Given the description of an element on the screen output the (x, y) to click on. 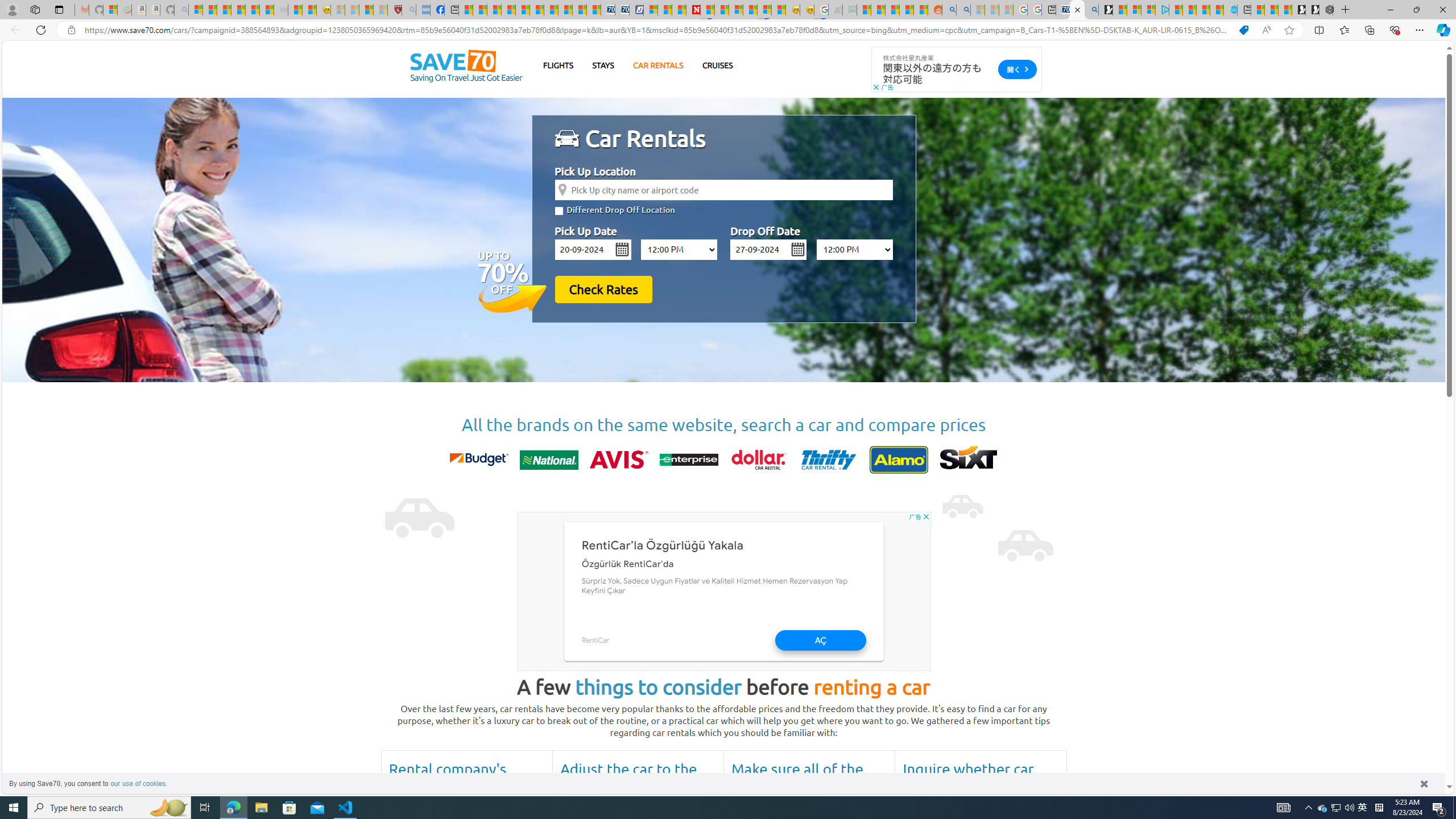
CRUISES (717, 65)
Class: select-dropoff-time select_box (854, 249)
Play Free Online Games | Games from Microsoft Start (1311, 9)
alamo (898, 459)
Microsoft Start Gaming (1105, 9)
Utah sues federal government - Search (963, 9)
Tab actions menu (58, 9)
Shopping in Microsoft Edge (1243, 29)
Check Rates (603, 289)
Split screen (1318, 29)
Class: select-pickup-time select_box (678, 249)
